Given the description of an element on the screen output the (x, y) to click on. 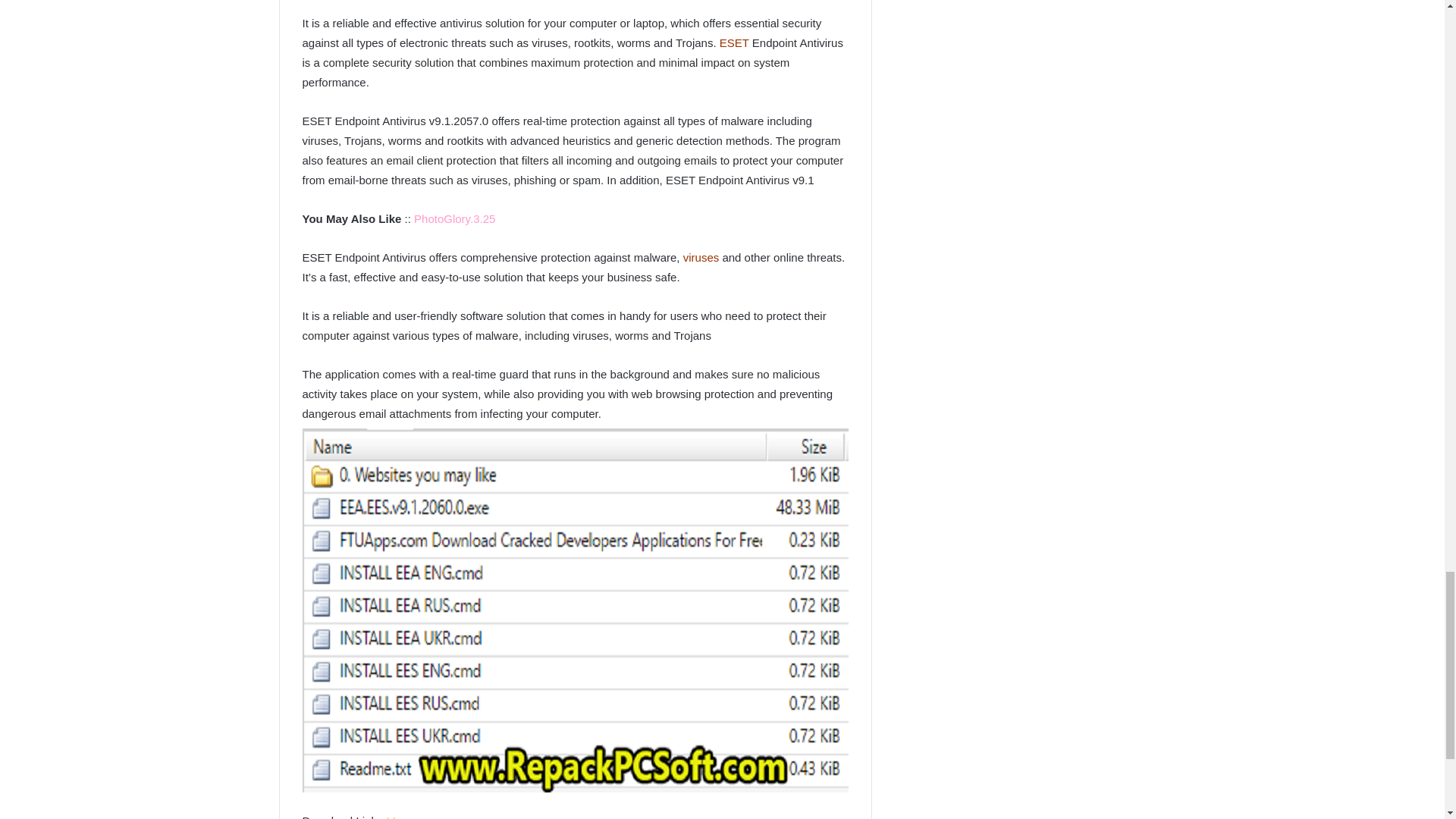
PhotoGlory.3.25 (454, 218)
viruses (700, 256)
ESET (734, 42)
Mega (399, 816)
